Given the description of an element on the screen output the (x, y) to click on. 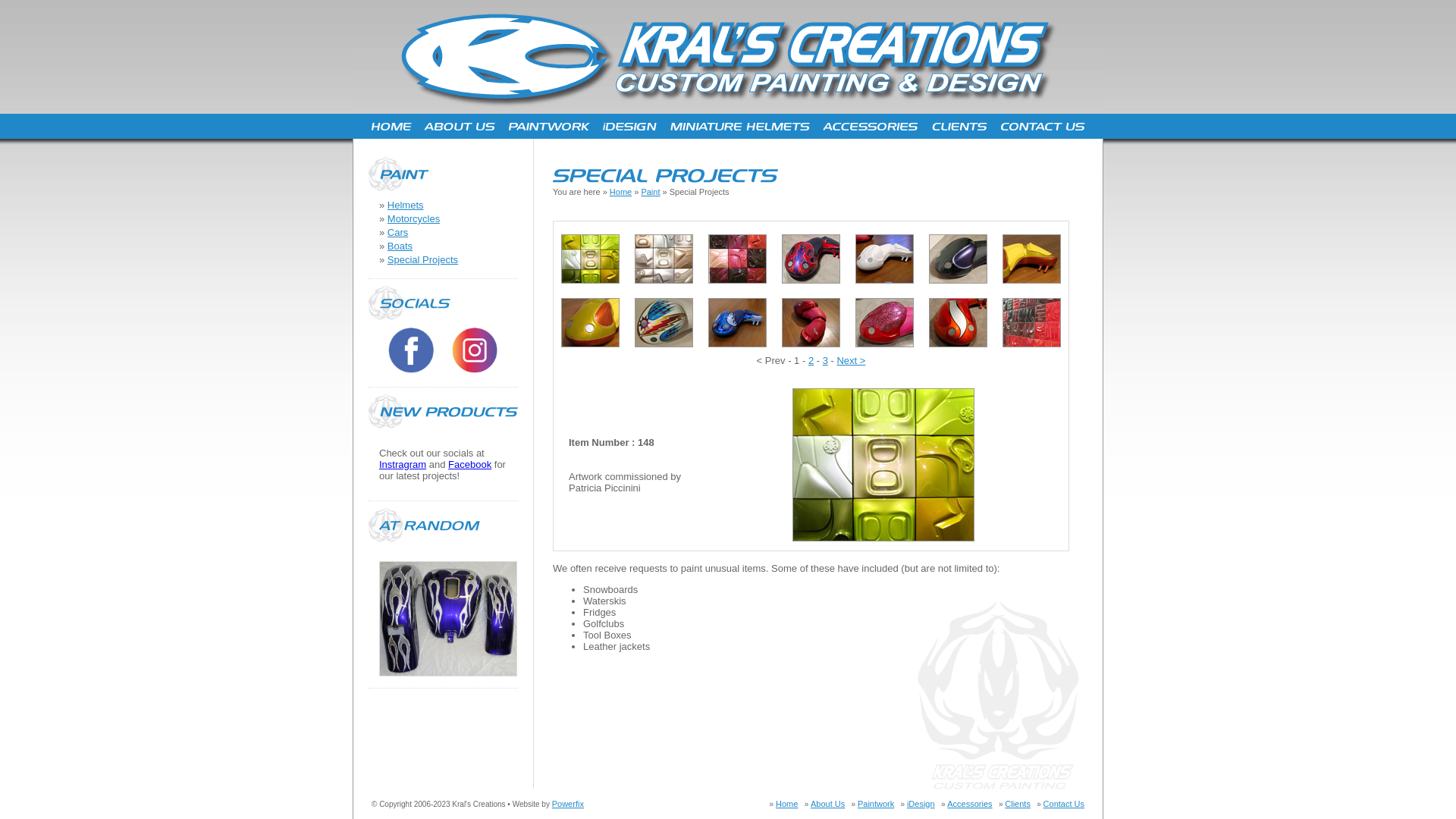
Next > Element type: text (850, 360)
Boats Element type: text (399, 245)
Visit Krals Creations on Facebook Element type: hover (410, 350)
Instragram Element type: text (402, 464)
Paintwork Element type: text (875, 803)
Home Element type: text (620, 191)
Helmets Element type: text (405, 204)
3 Element type: text (825, 360)
Powerfix Element type: text (567, 803)
Contact Us Element type: text (1063, 803)
Accessories Element type: text (969, 803)
Special Projects Element type: text (422, 259)
Visit Krals Creations on Instagram Element type: hover (474, 350)
2 Element type: text (810, 360)
Facebook Element type: text (469, 464)
Paint Element type: text (649, 191)
Home Element type: text (786, 803)
Motorcycles Element type: text (413, 218)
Cars Element type: text (397, 232)
iDesign Element type: text (920, 803)
About Us Element type: text (827, 803)
Clients Element type: text (1017, 803)
